Given the description of an element on the screen output the (x, y) to click on. 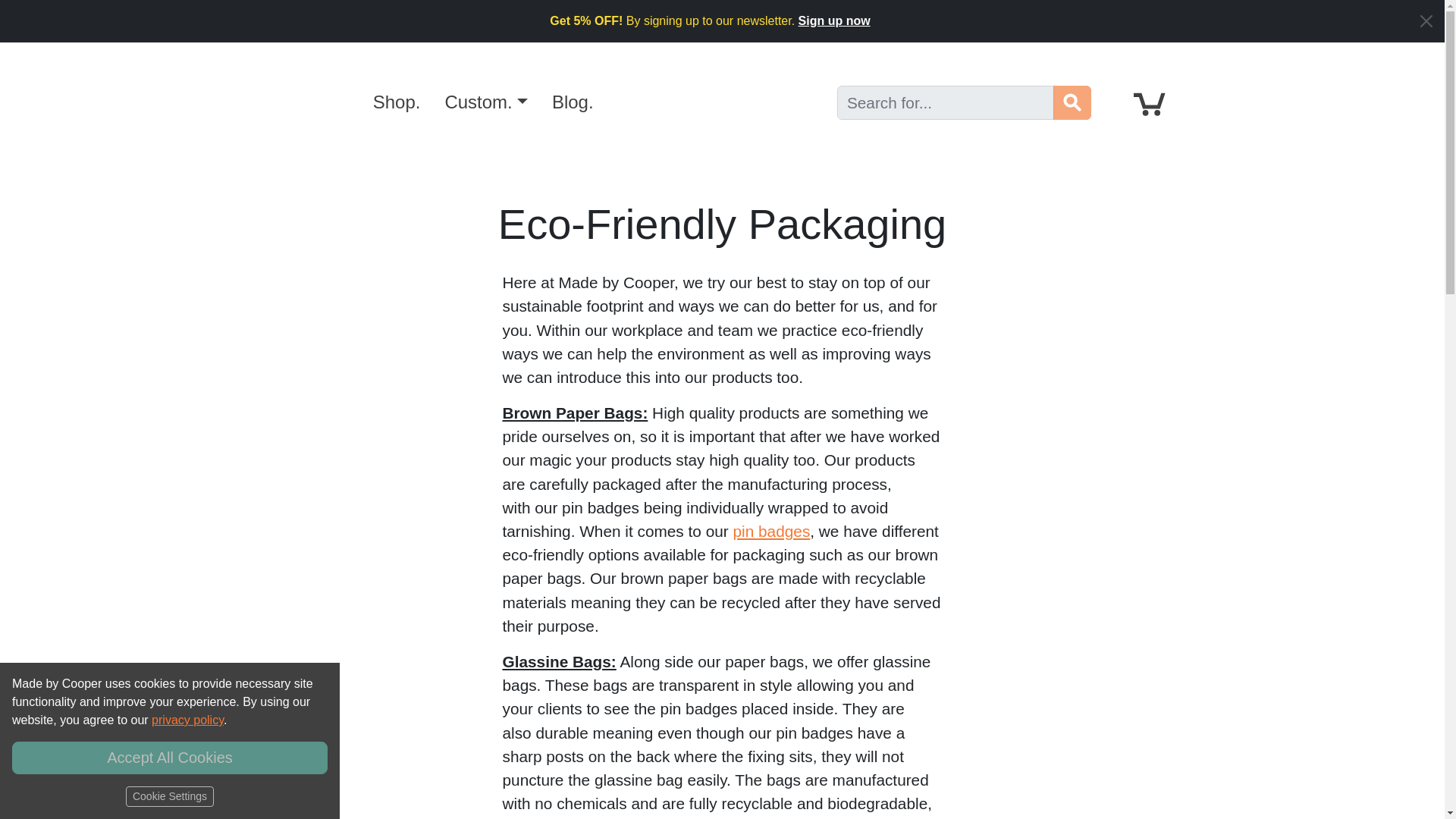
Shop. (396, 102)
Sign up now (833, 20)
Cart (1149, 103)
Custom. (485, 102)
Made By Cooper Logo (304, 102)
pin badges (771, 530)
Skip to content (49, 12)
Search (1071, 102)
Blog. (572, 102)
